Given the description of an element on the screen output the (x, y) to click on. 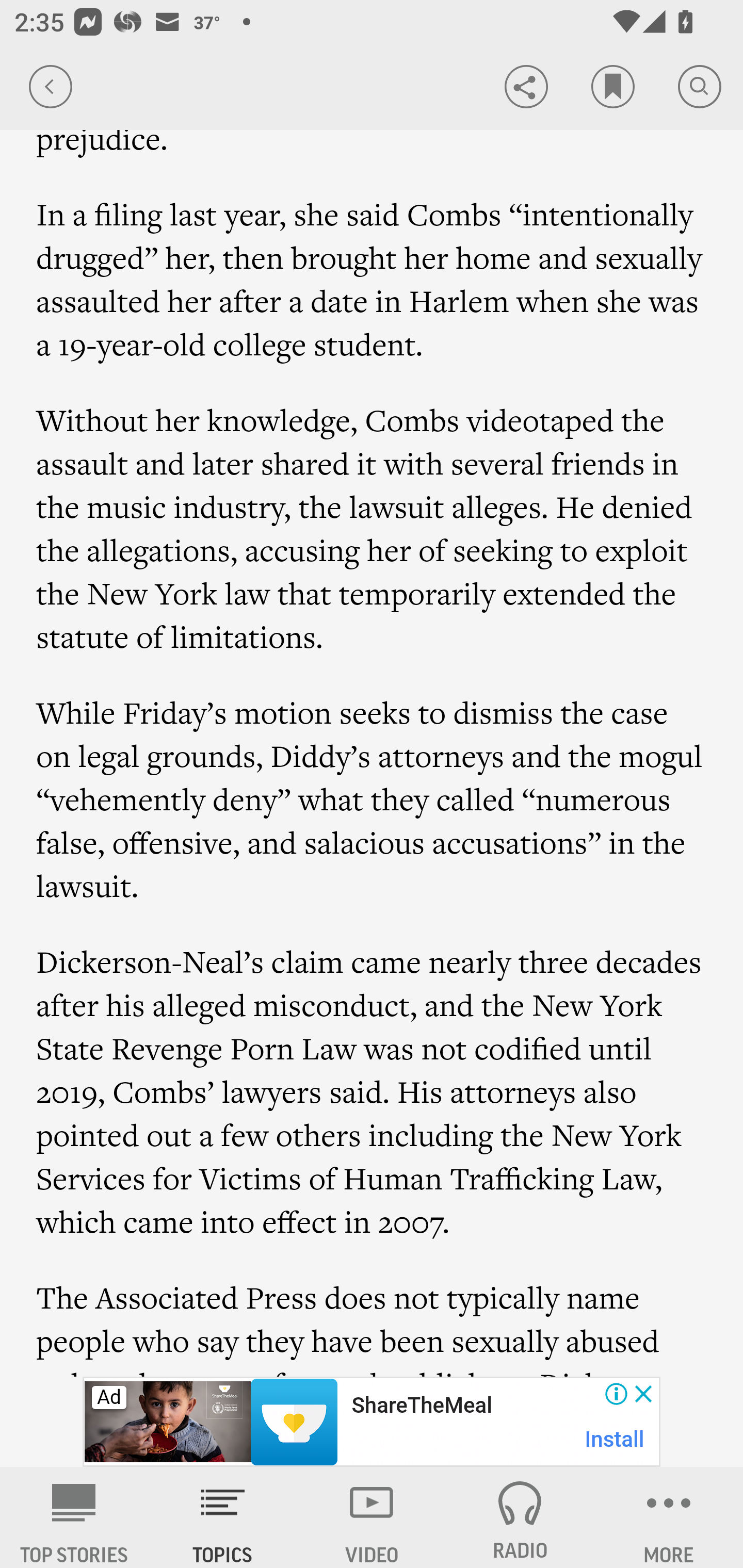
ShareTheMeal (420, 1405)
Install (614, 1438)
AP News TOP STORIES (74, 1517)
TOPICS (222, 1517)
VIDEO (371, 1517)
RADIO (519, 1517)
MORE (668, 1517)
